Given the description of an element on the screen output the (x, y) to click on. 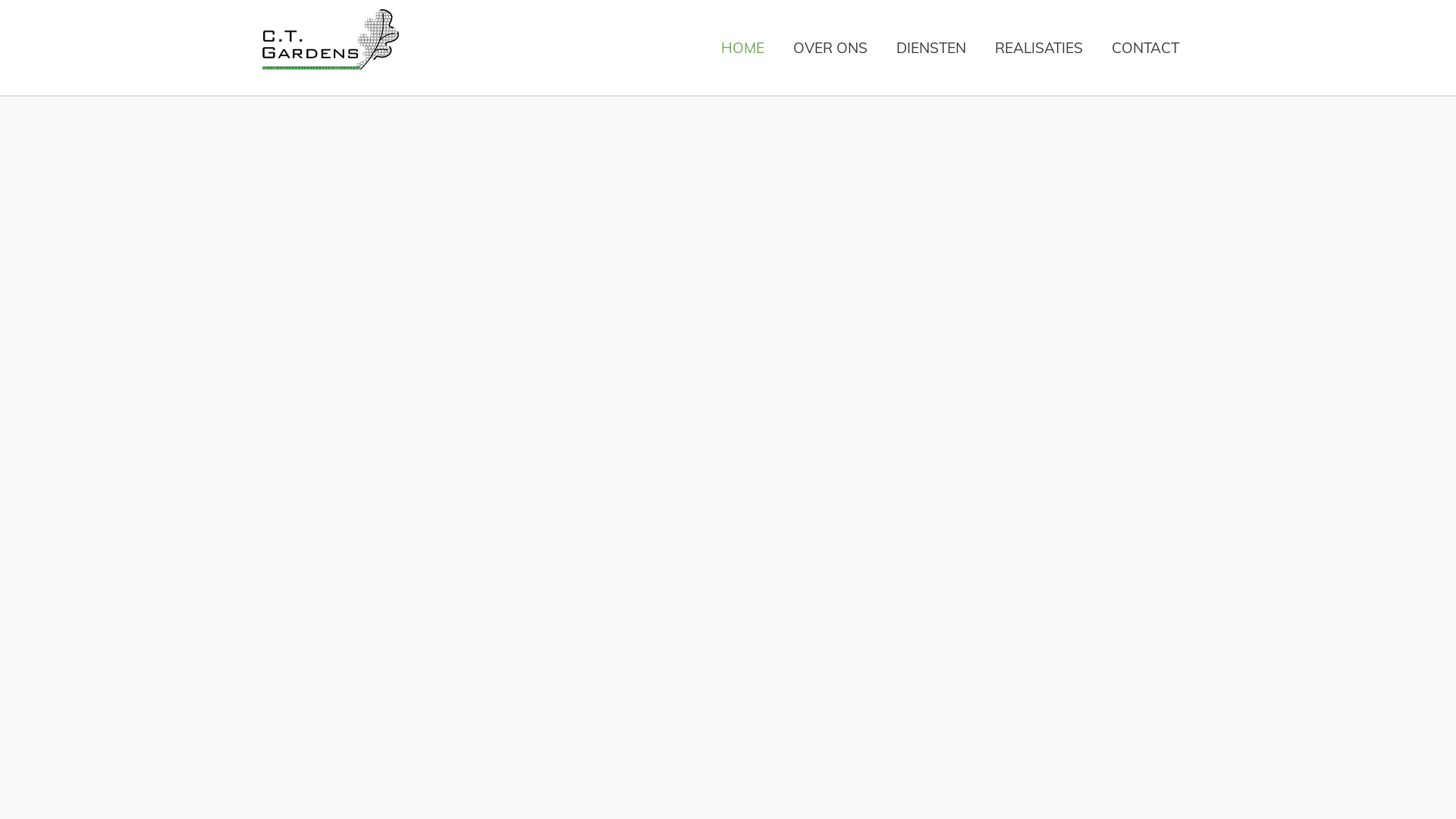
CONTACT Element type: text (1145, 47)
REALISATIES Element type: text (1038, 47)
OVER ONS Element type: text (830, 47)
DIENSTEN Element type: text (931, 47)
HOME Element type: text (742, 47)
deze link Element type: text (241, 67)
